Given the description of an element on the screen output the (x, y) to click on. 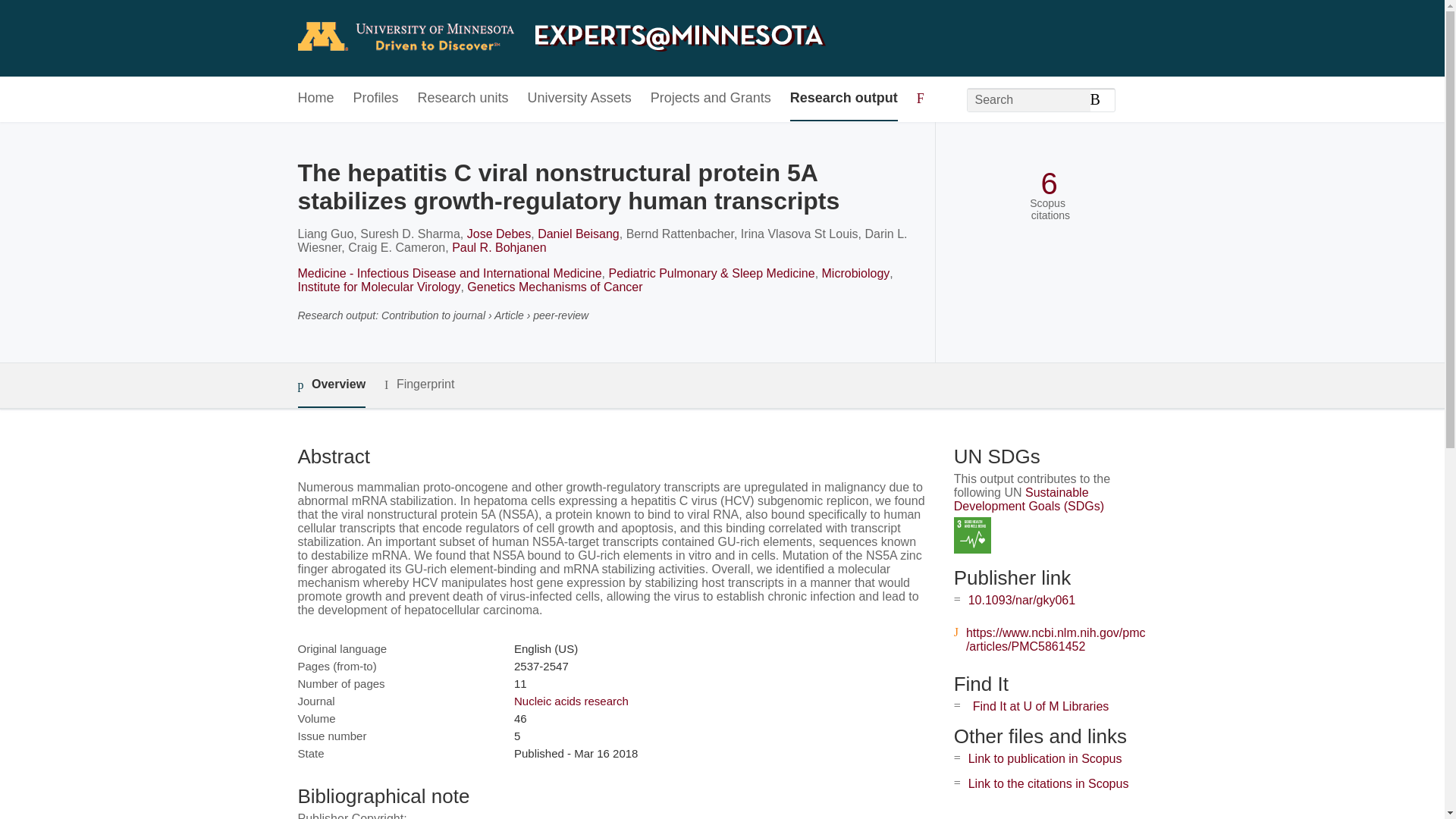
Nucleic acids research (570, 700)
Paul R. Bohjanen (499, 246)
University Assets (579, 98)
Profiles (375, 98)
Research units (462, 98)
Microbiology (855, 273)
SDG 3 - Good Health and Well-being (972, 535)
Link to publication in Scopus (1045, 758)
Fingerprint (419, 384)
